Given the description of an element on the screen output the (x, y) to click on. 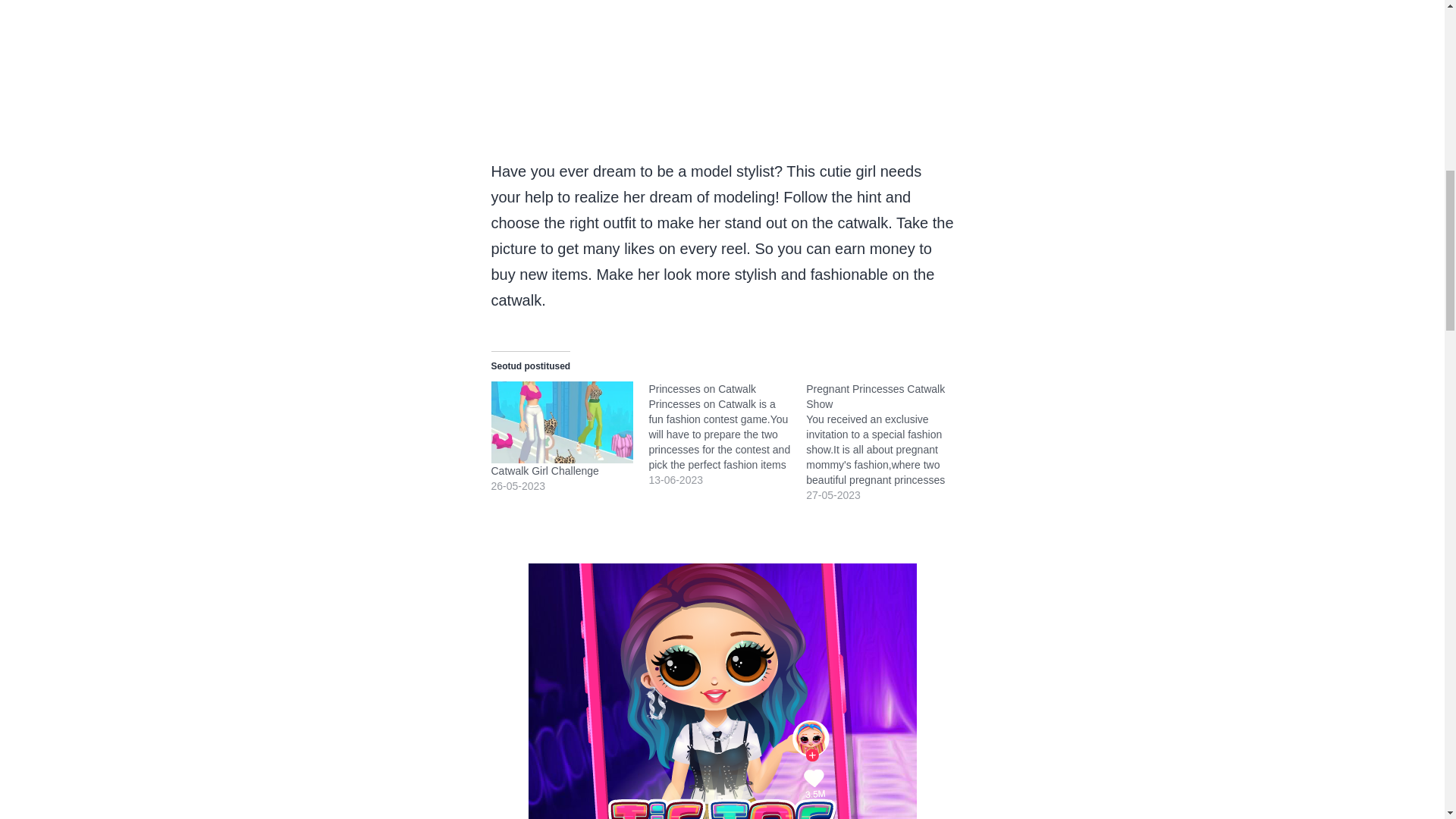
Pregnant Princesses Catwalk Show (875, 396)
Pregnant Princesses Catwalk Show (884, 441)
Catwalk Girl Challenge (545, 470)
Catwalk Girl Challenge (562, 421)
Pregnant Princesses Catwalk Show (875, 396)
Catwalk Girl Challenge (545, 470)
Princesses on Catwalk (701, 388)
Princesses on Catwalk (701, 388)
Princesses on Catwalk (726, 434)
